Given the description of an element on the screen output the (x, y) to click on. 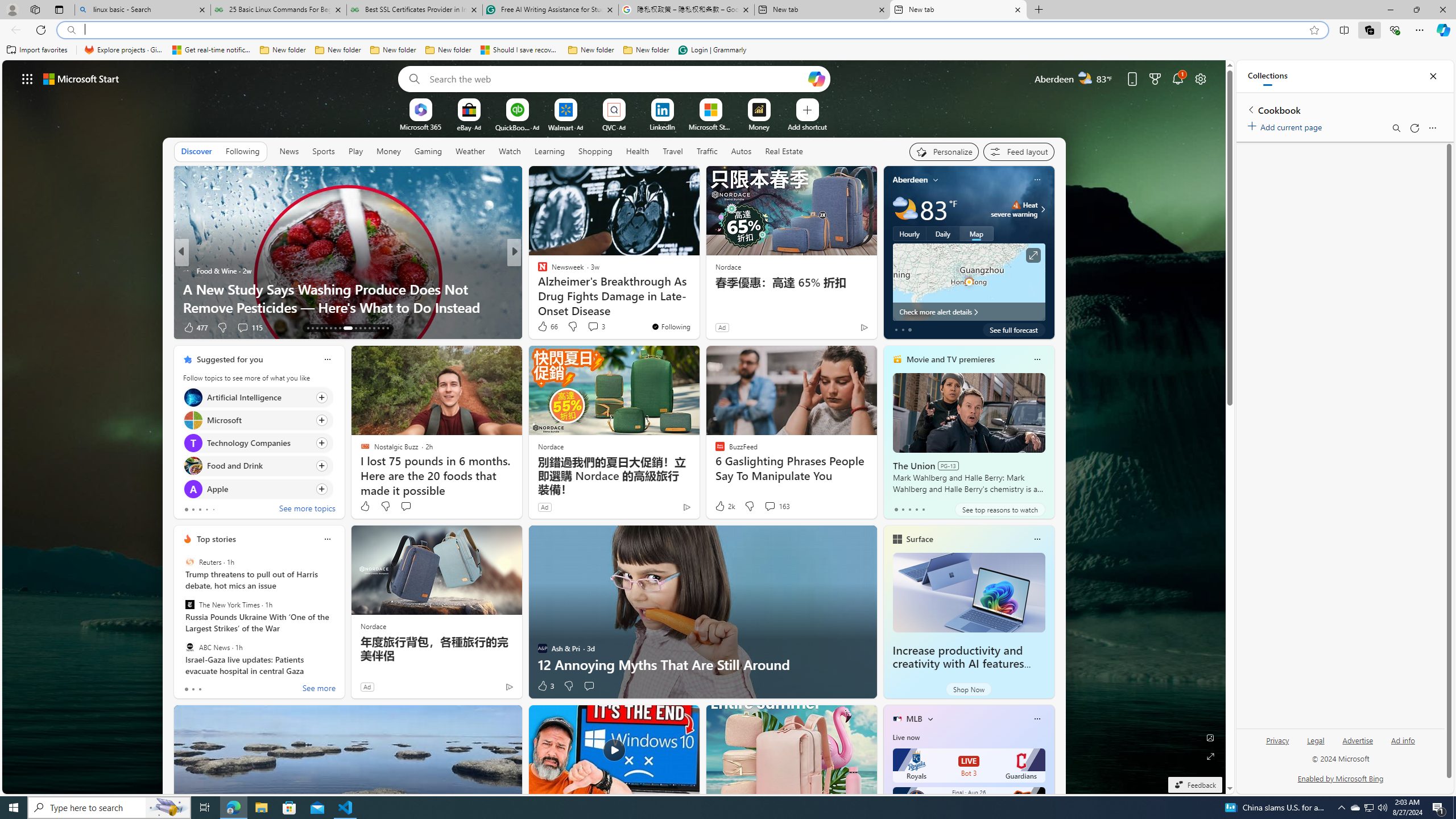
More interests (930, 718)
View comments 26 Comment (241, 327)
Click to see more information (1033, 255)
Suggested for you (229, 359)
Click to follow topic Food and Drink (257, 465)
Play (354, 151)
View comments 3 Comment (596, 326)
AutomationID: tab-16 (321, 328)
TechRadar (537, 288)
